Given the description of an element on the screen output the (x, y) to click on. 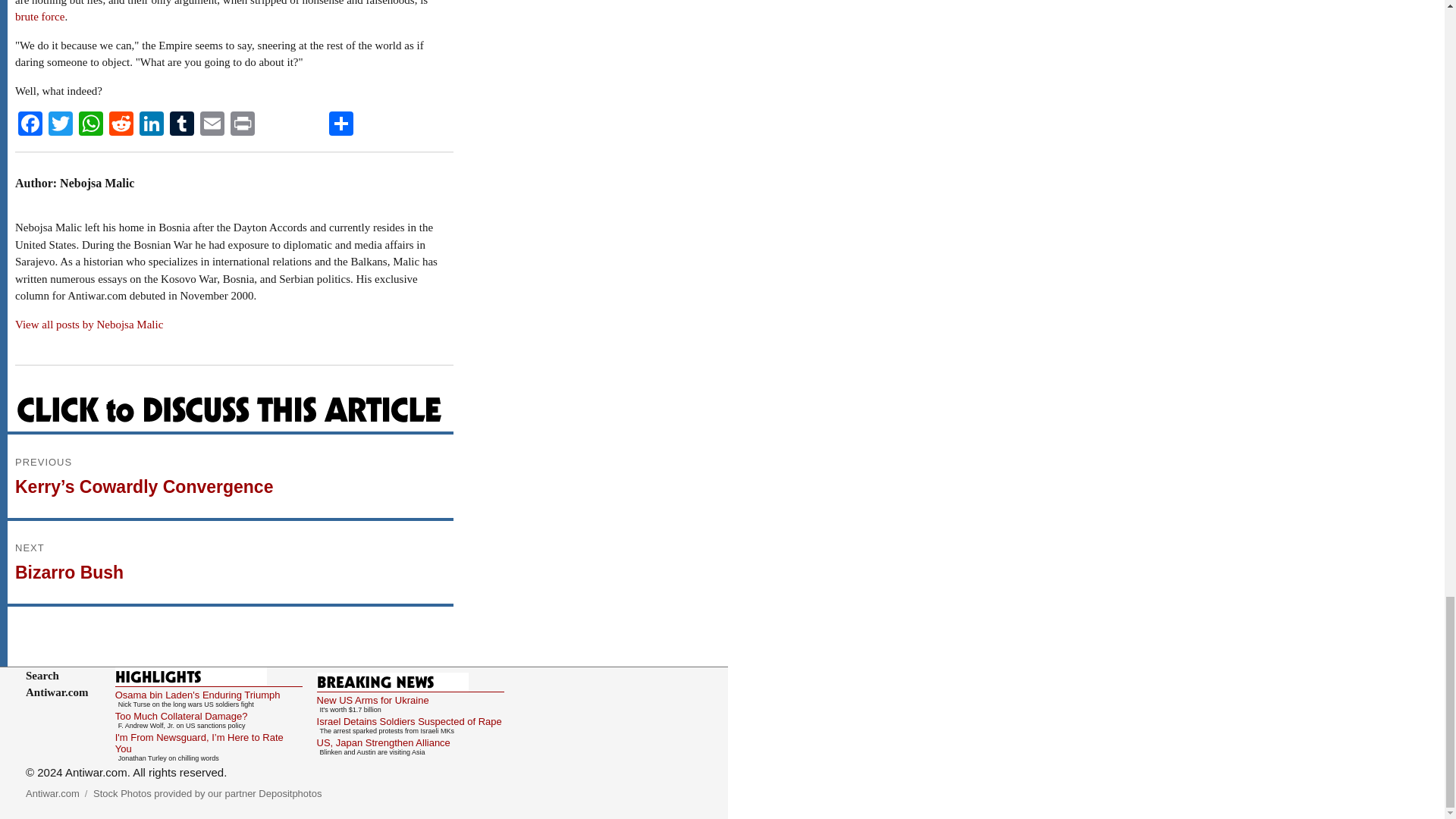
Reddit (121, 125)
Print (242, 125)
Twitter (60, 125)
Tumblr (181, 125)
Facebook (29, 125)
WhatsApp (90, 125)
LinkedIn (151, 125)
Email (211, 125)
